Given the description of an element on the screen output the (x, y) to click on. 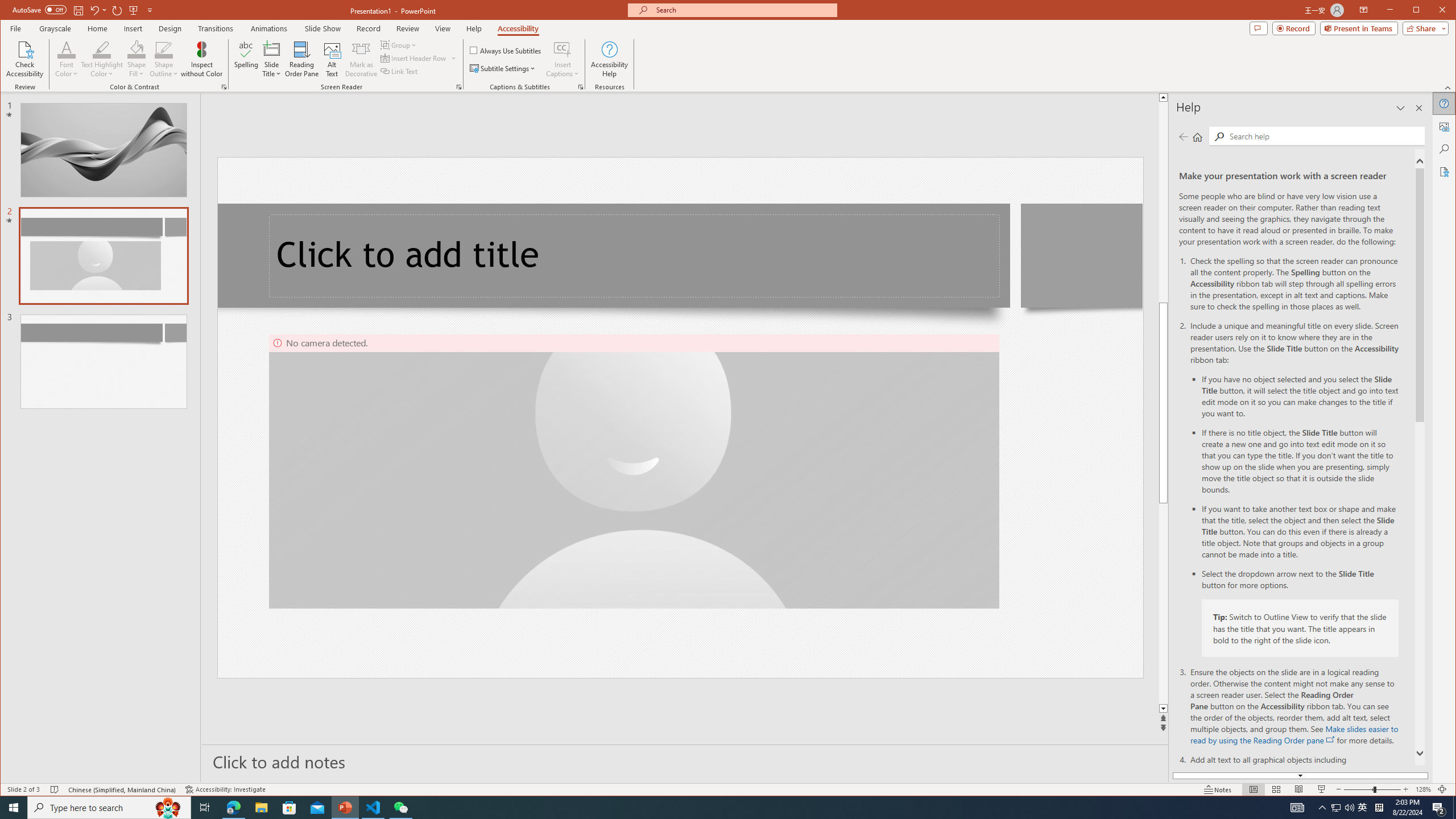
Shape Outline (163, 59)
Subtitle Settings (502, 68)
Always Use Subtitles (505, 49)
Accessibility Help (608, 59)
Link Text (399, 70)
File Explorer (261, 807)
WeChat - 1 running window (400, 807)
Insert Captions (562, 59)
